Given the description of an element on the screen output the (x, y) to click on. 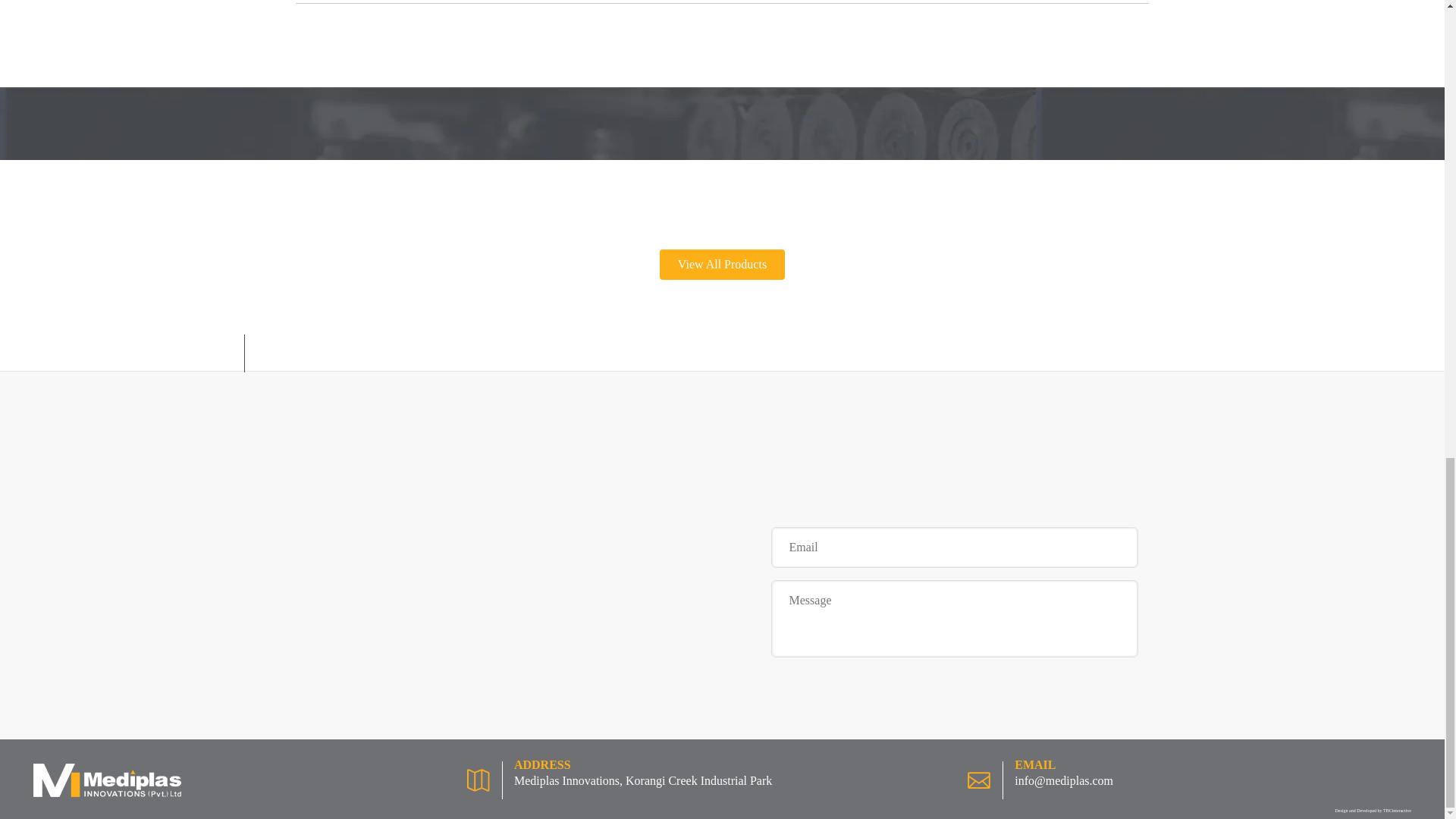
Submit Message (953, 768)
View All Products (721, 264)
Design and Developed by TBCinteractive (1372, 810)
Mediplas Innovations, Korangi Creek Industrial Park (642, 780)
